Given the description of an element on the screen output the (x, y) to click on. 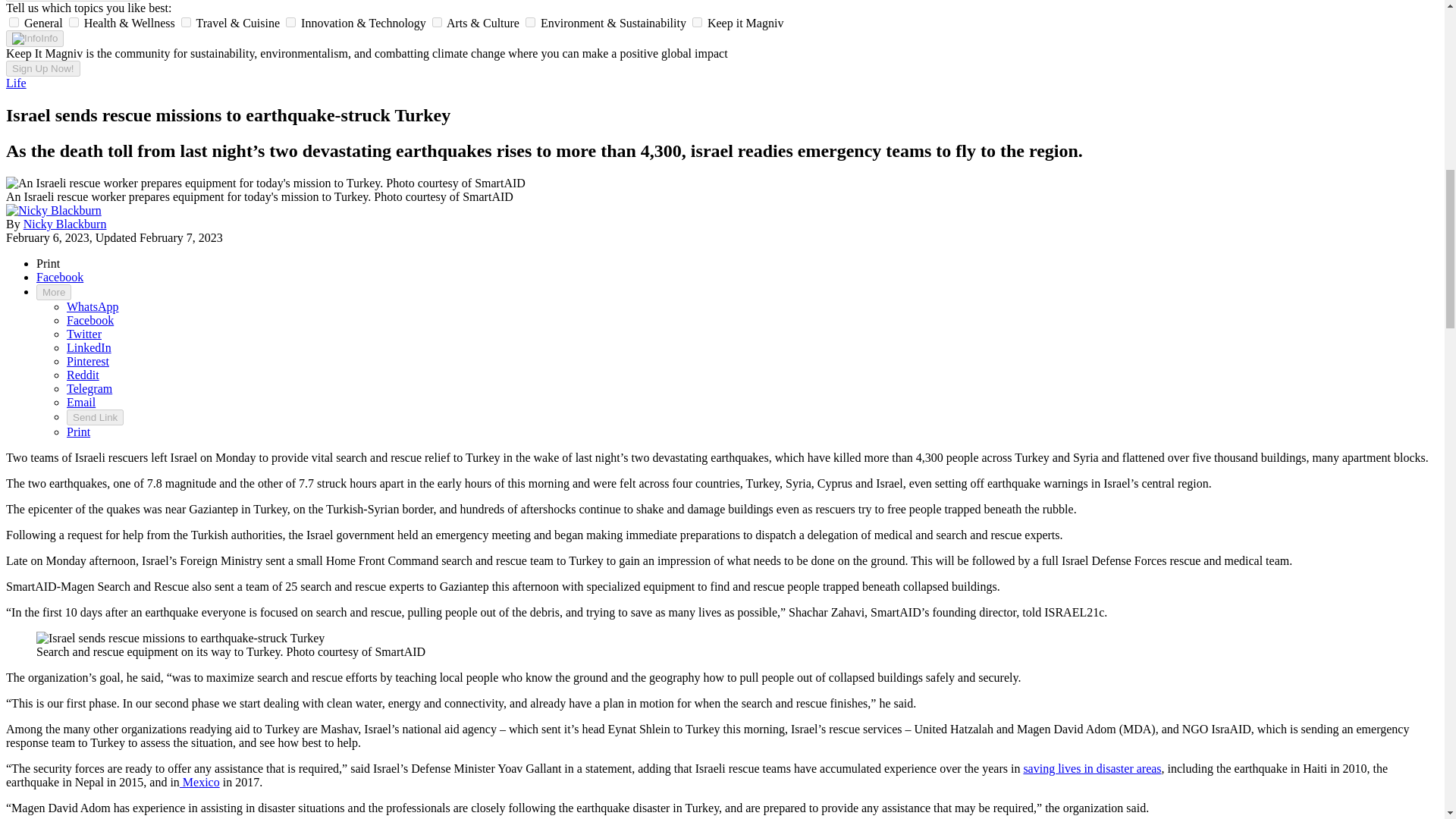
0 (13, 22)
1 (73, 22)
Info (34, 38)
Nicky Blackburn (53, 210)
2 (185, 22)
3 (290, 22)
5 (530, 22)
4 (437, 22)
Nicky Blackburn (53, 210)
